Given the description of an element on the screen output the (x, y) to click on. 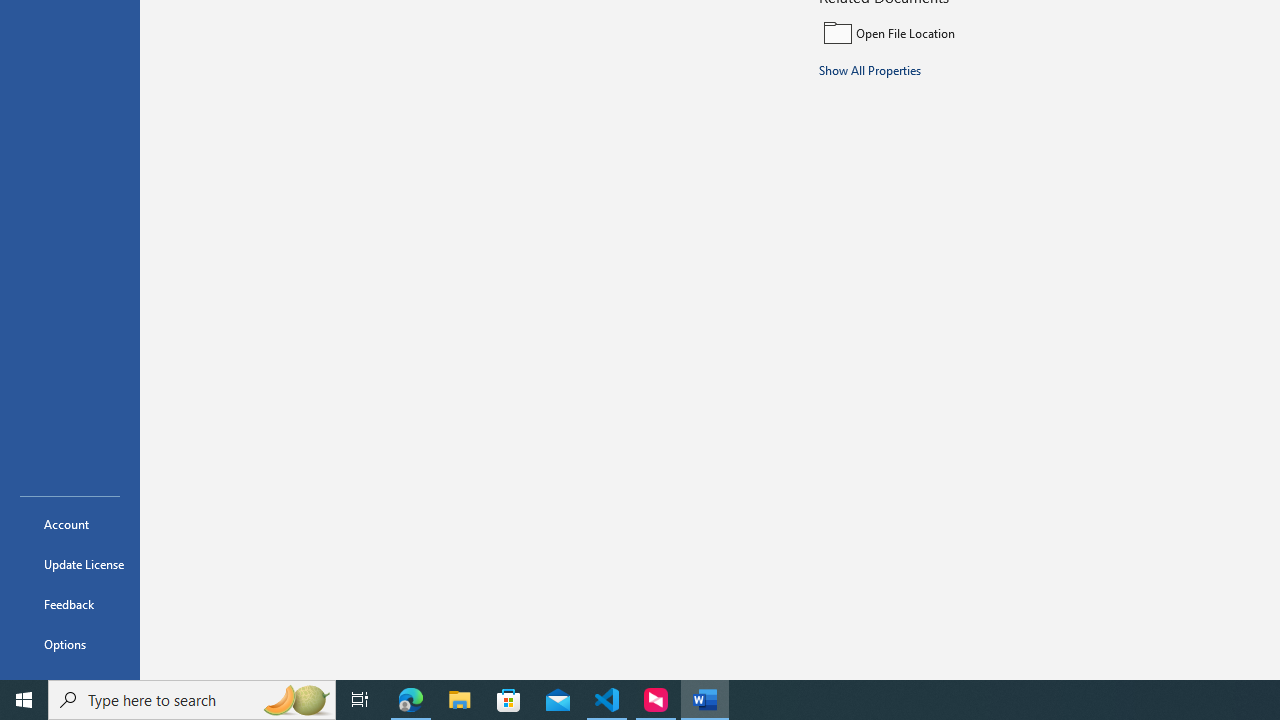
Open File Location (953, 32)
Update License (69, 563)
Options (69, 643)
Account (69, 523)
Feedback (69, 603)
Show All Properties (870, 69)
